Given the description of an element on the screen output the (x, y) to click on. 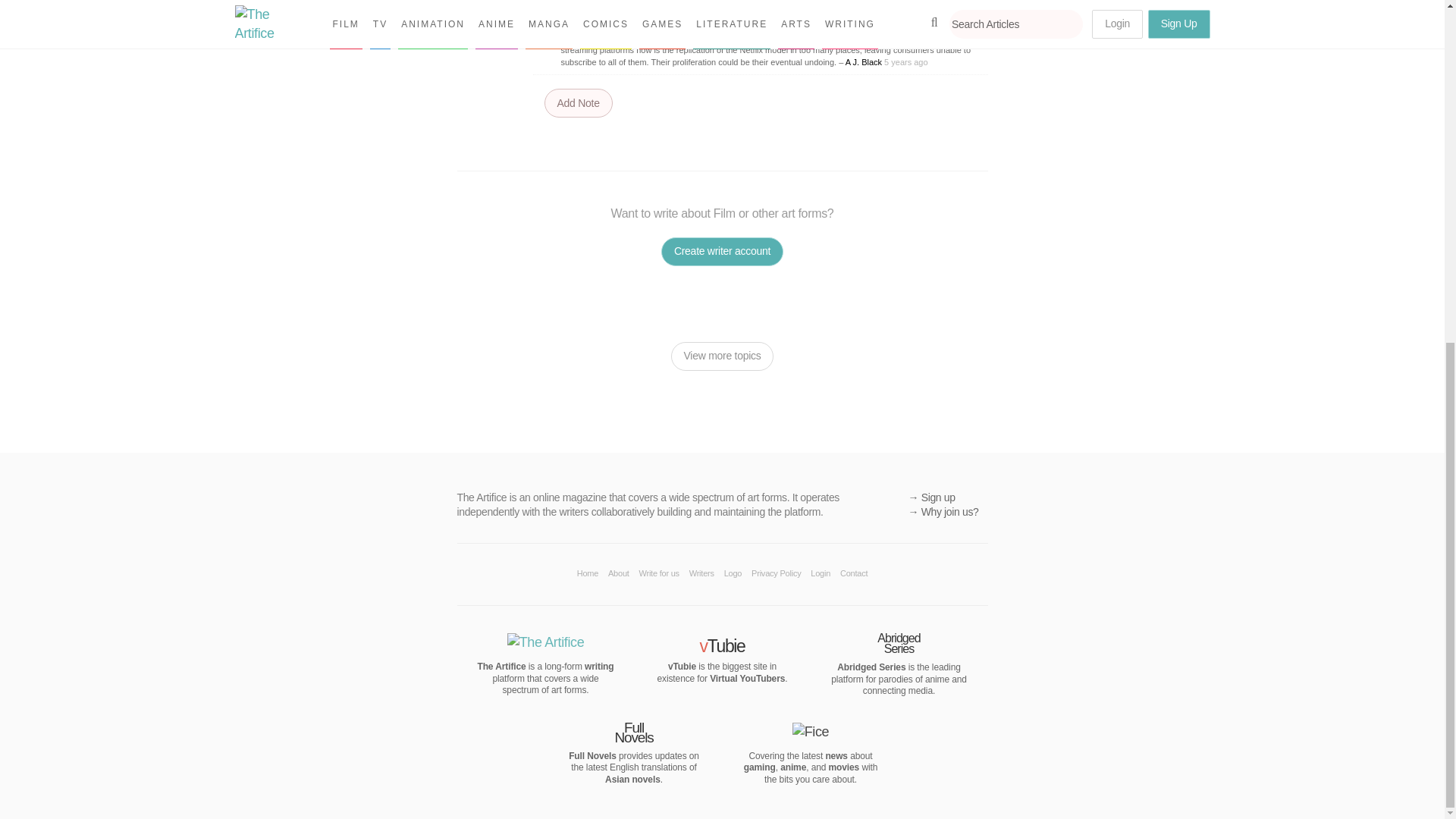
The Artifice (501, 665)
The Artifice (599, 665)
The Artifice (545, 642)
